Given the description of an element on the screen output the (x, y) to click on. 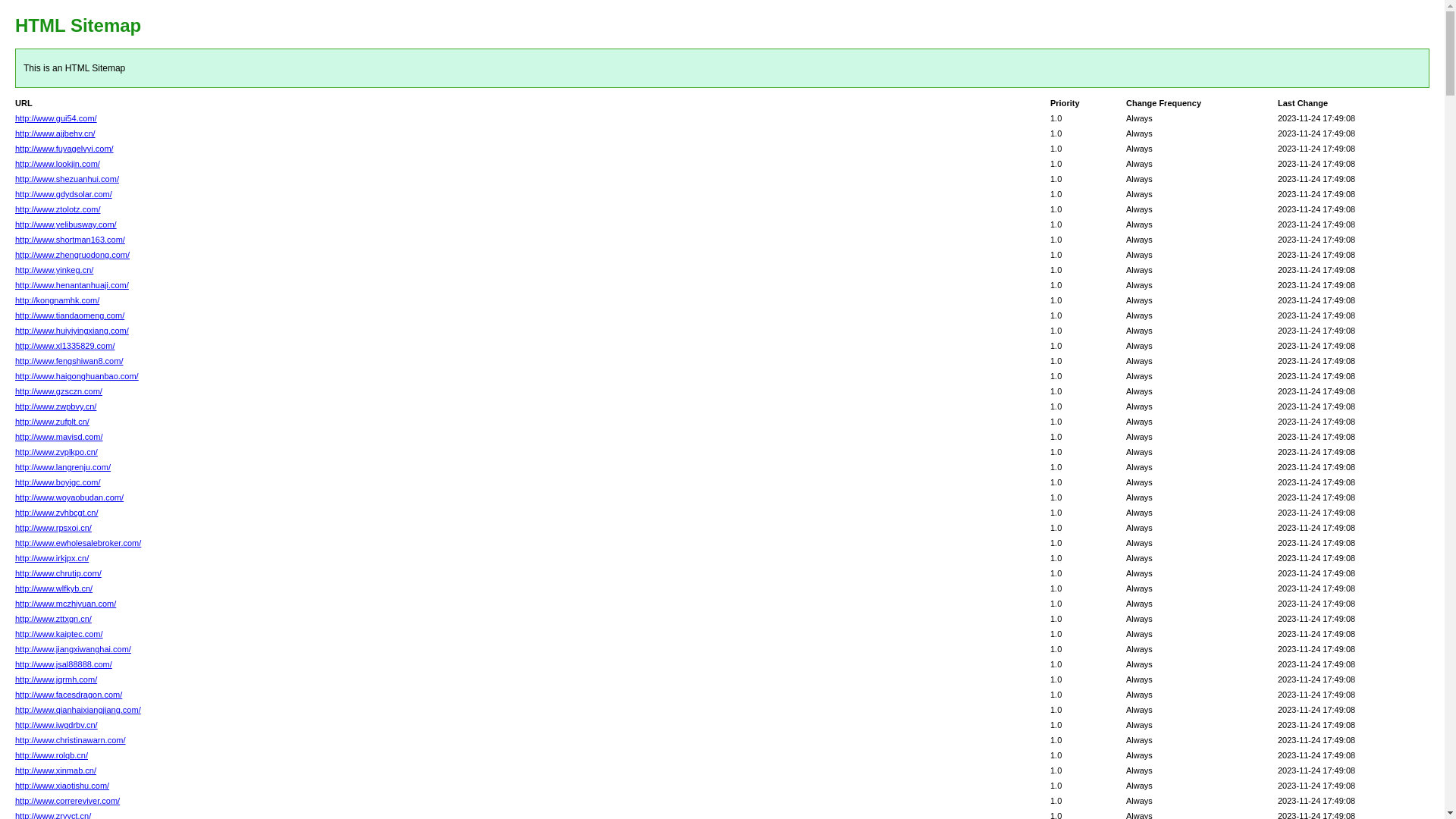
http://www.jsal88888.com/ Element type: text (63, 663)
http://www.henantanhuaji.com/ Element type: text (71, 284)
http://www.boyigc.com/ Element type: text (57, 481)
http://www.tiandaomeng.com/ Element type: text (69, 315)
http://www.gdydsolar.com/ Element type: text (63, 193)
http://www.zwpbvy.cn/ Element type: text (55, 406)
http://www.haigonghuanbao.com/ Element type: text (76, 375)
http://www.zttxgn.cn/ Element type: text (53, 618)
http://www.chrutip.com/ Element type: text (58, 572)
http://www.fengshiwan8.com/ Element type: text (68, 360)
http://www.mczhiyuan.com/ Element type: text (65, 603)
http://www.qianhaixiangjiang.com/ Element type: text (78, 709)
http://www.yelibusway.com/ Element type: text (65, 224)
http://www.zvhbcgt.cn/ Element type: text (56, 512)
http://www.xiaotishu.com/ Element type: text (62, 785)
http://www.mavisd.com/ Element type: text (59, 436)
http://www.ztolotz.com/ Element type: text (57, 208)
http://www.jqrmh.com/ Element type: text (56, 679)
http://www.rpsxoi.cn/ Element type: text (53, 527)
http://www.zvplkpo.cn/ Element type: text (56, 451)
http://www.langrenju.com/ Element type: text (62, 466)
http://www.iwgdrbv.cn/ Element type: text (56, 724)
http://www.ewholesalebroker.com/ Element type: text (78, 542)
http://www.fuyagelvyi.com/ Element type: text (64, 148)
http://www.wlfkyb.cn/ Element type: text (53, 588)
http://www.facesdragon.com/ Element type: text (68, 694)
http://www.zhengruodong.com/ Element type: text (72, 254)
http://www.woyaobudan.com/ Element type: text (69, 497)
http://www.christinawarn.com/ Element type: text (70, 739)
http://www.xinmab.cn/ Element type: text (55, 770)
http://www.irkjpx.cn/ Element type: text (51, 557)
http://www.ajjbehv.cn/ Element type: text (55, 133)
http://www.correreviver.com/ Element type: text (67, 800)
http://www.rolqb.cn/ Element type: text (51, 754)
http://kongnamhk.com/ Element type: text (57, 299)
http://www.gzsczn.com/ Element type: text (58, 390)
http://www.shortman163.com/ Element type: text (70, 239)
http://www.lookjin.com/ Element type: text (57, 163)
http://www.zufplt.cn/ Element type: text (52, 421)
http://www.yinkeg.cn/ Element type: text (54, 269)
http://www.huiyiyingxiang.com/ Element type: text (71, 330)
http://www.jiangxiwanghai.com/ Element type: text (73, 648)
http://www.kaiptec.com/ Element type: text (59, 633)
http://www.gui54.com/ Element type: text (56, 117)
http://www.shezuanhui.com/ Element type: text (67, 178)
http://www.xl1335829.com/ Element type: text (64, 345)
